Given the description of an element on the screen output the (x, y) to click on. 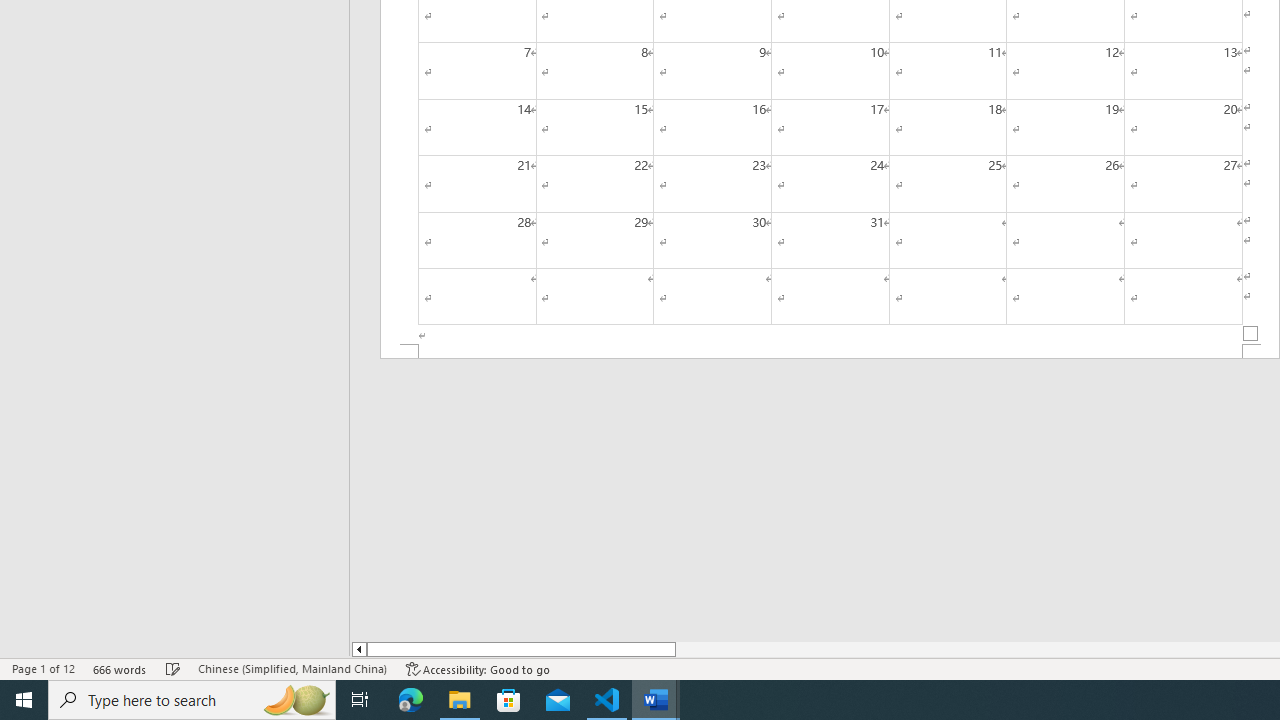
Language Chinese (Simplified, Mainland China) (292, 668)
Accessibility Checker Accessibility: Good to go (478, 668)
Column left (358, 649)
Footer -Section 1- (830, 351)
Page Number Page 1 of 12 (43, 668)
Word Count 666 words (119, 668)
Spelling and Grammar Check Checking (173, 668)
